Given the description of an element on the screen output the (x, y) to click on. 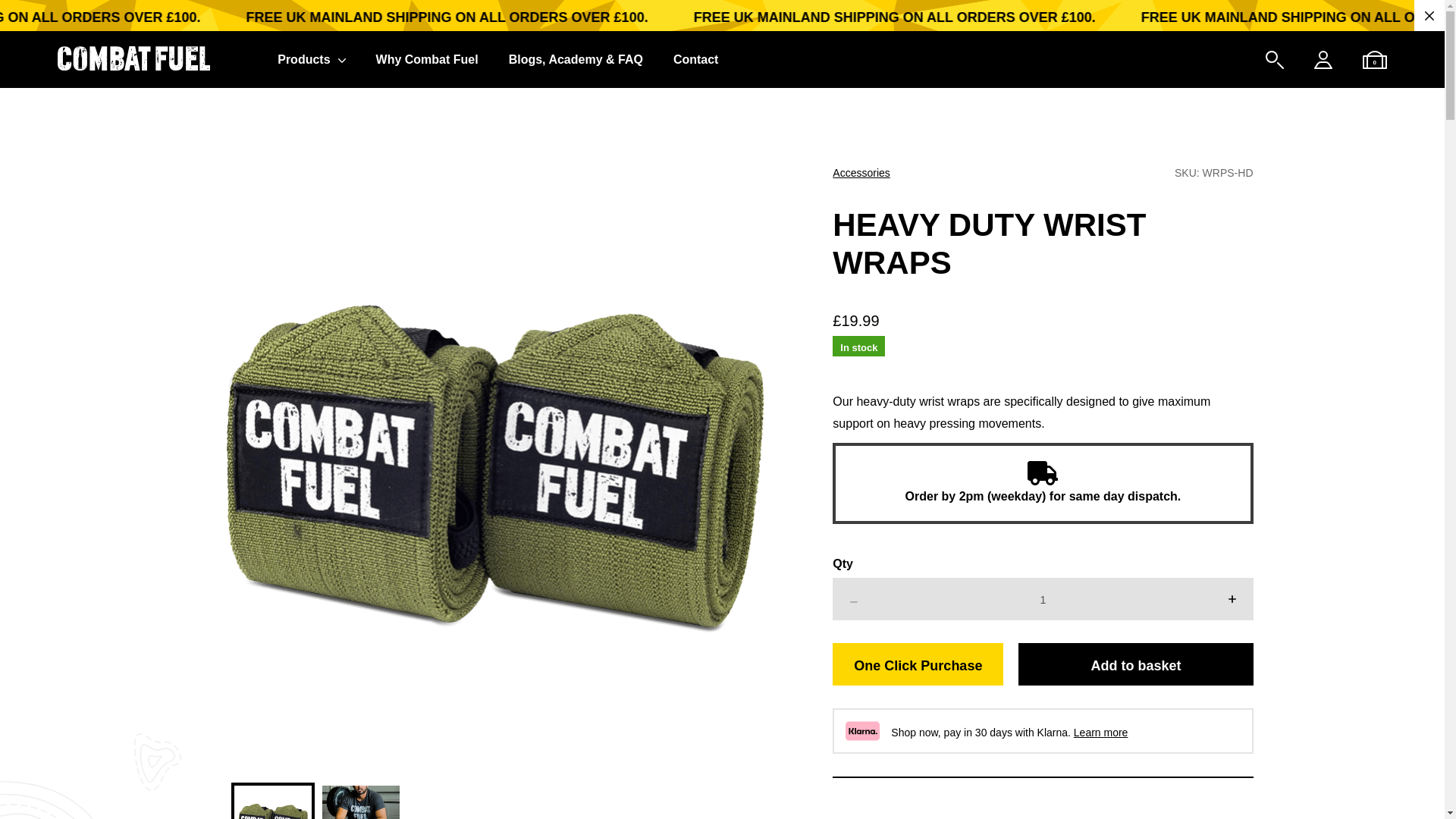
Products (311, 59)
1 (1042, 598)
Qty (1042, 598)
Why Combat Fuel (427, 59)
